Given the description of an element on the screen output the (x, y) to click on. 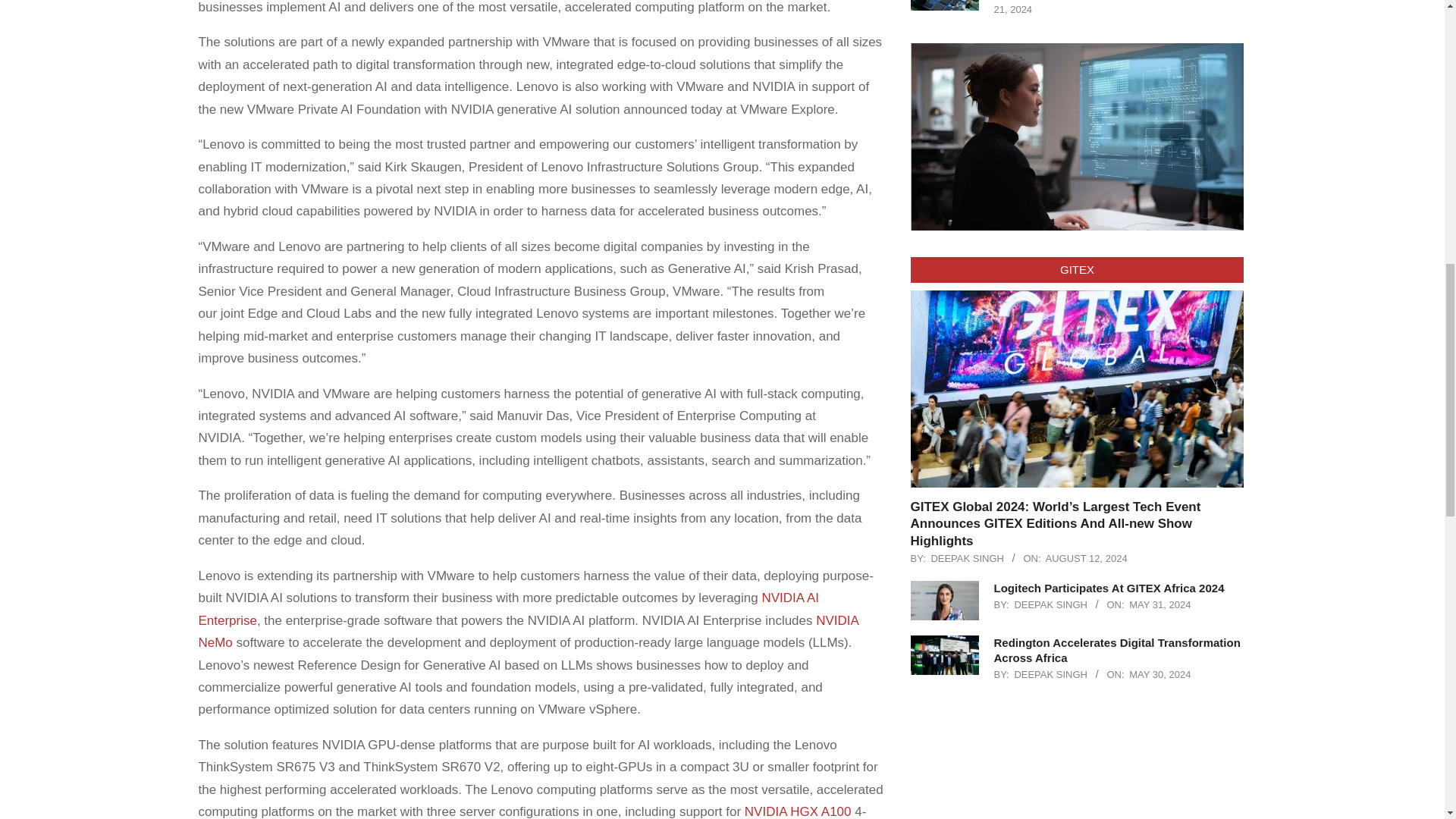
Monday, August 12, 2024, 11:31 am (1085, 558)
Posts by Deepak Singh (1050, 604)
Wednesday, August 21, 2024, 9:16 am (1109, 7)
Posts by Deepak Singh (967, 558)
Posts by The Channel Post Staff (1079, 0)
